Given the description of an element on the screen output the (x, y) to click on. 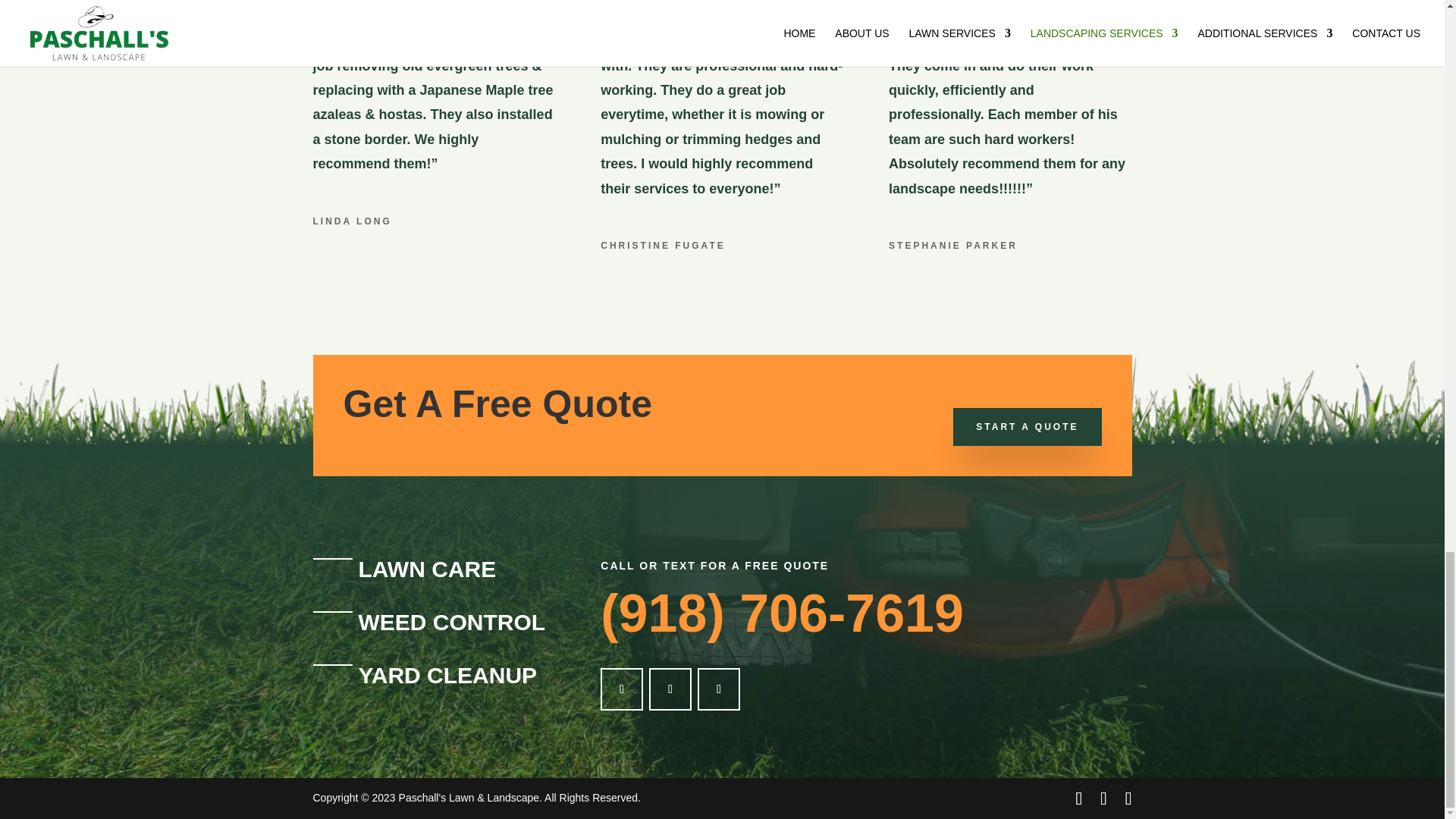
Follow on Instagram (718, 689)
landscape-maintenance-09 (933, 3)
Follow on X (670, 689)
landscape-maintenance-09 (645, 3)
Follow on Facebook (621, 689)
landscape-maintenance-09 (358, 3)
